Given the description of an element on the screen output the (x, y) to click on. 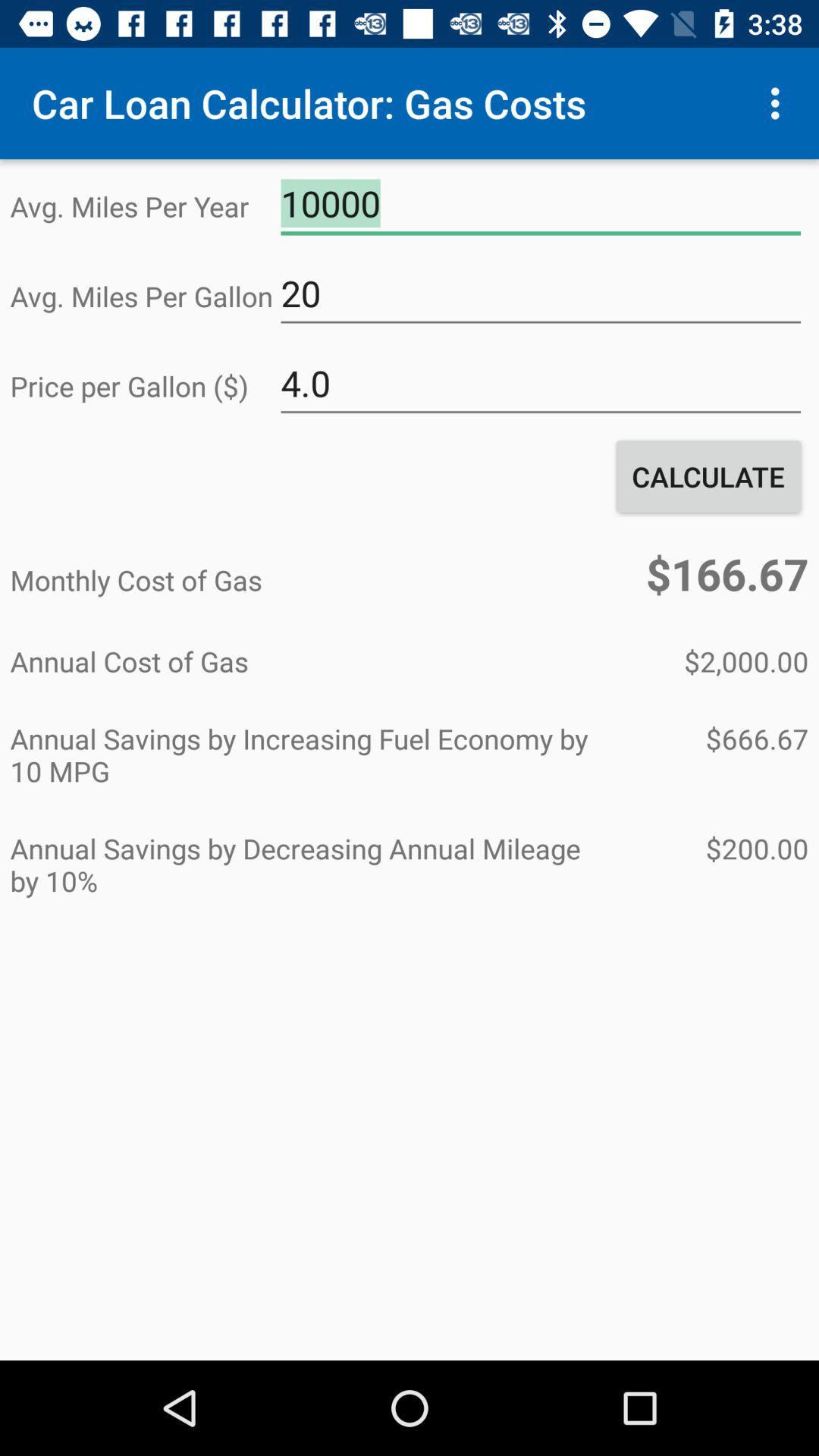
open the item above 4.0 icon (540, 293)
